Given the description of an element on the screen output the (x, y) to click on. 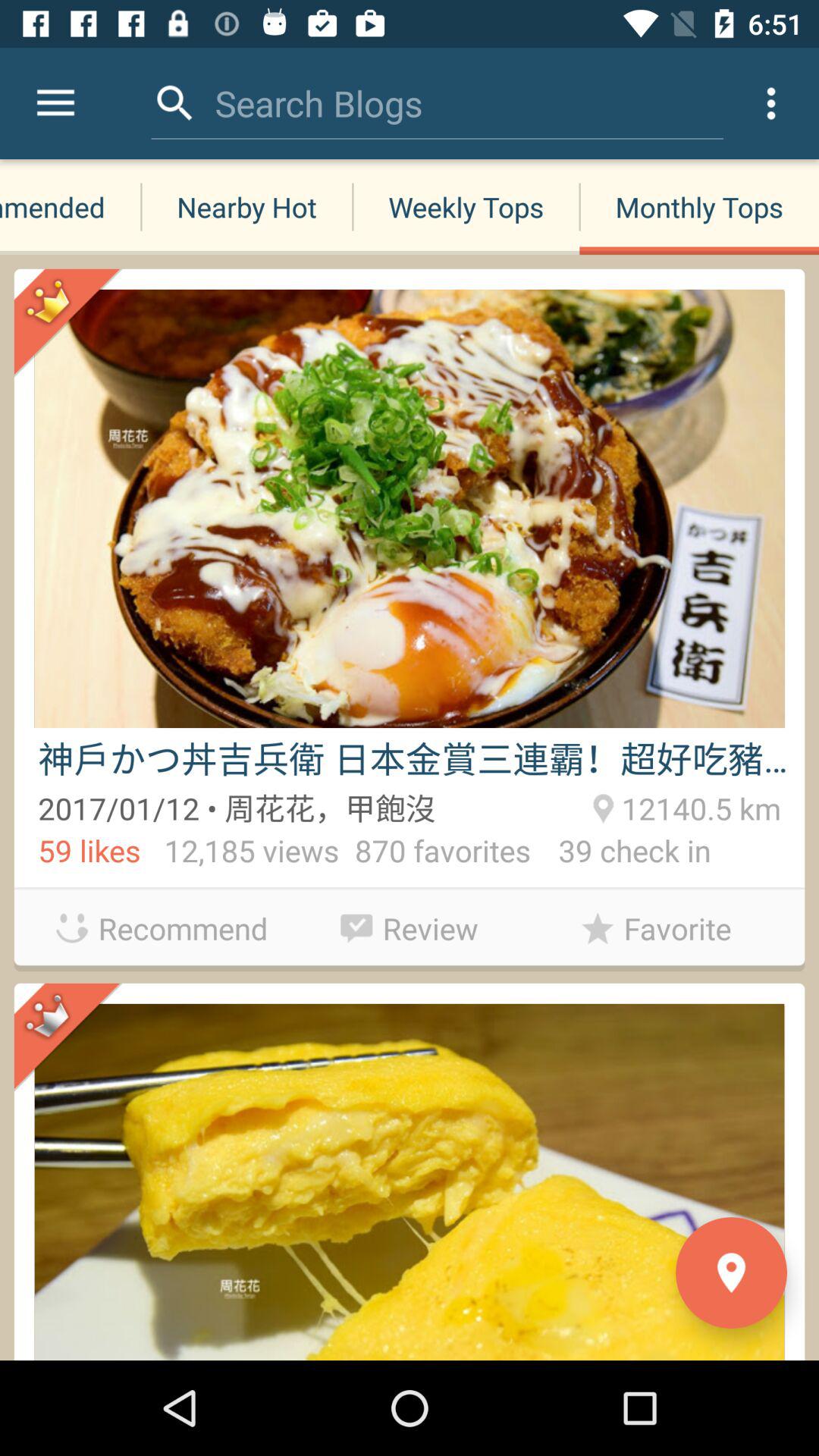
flip to the recommend app (161, 928)
